Given the description of an element on the screen output the (x, y) to click on. 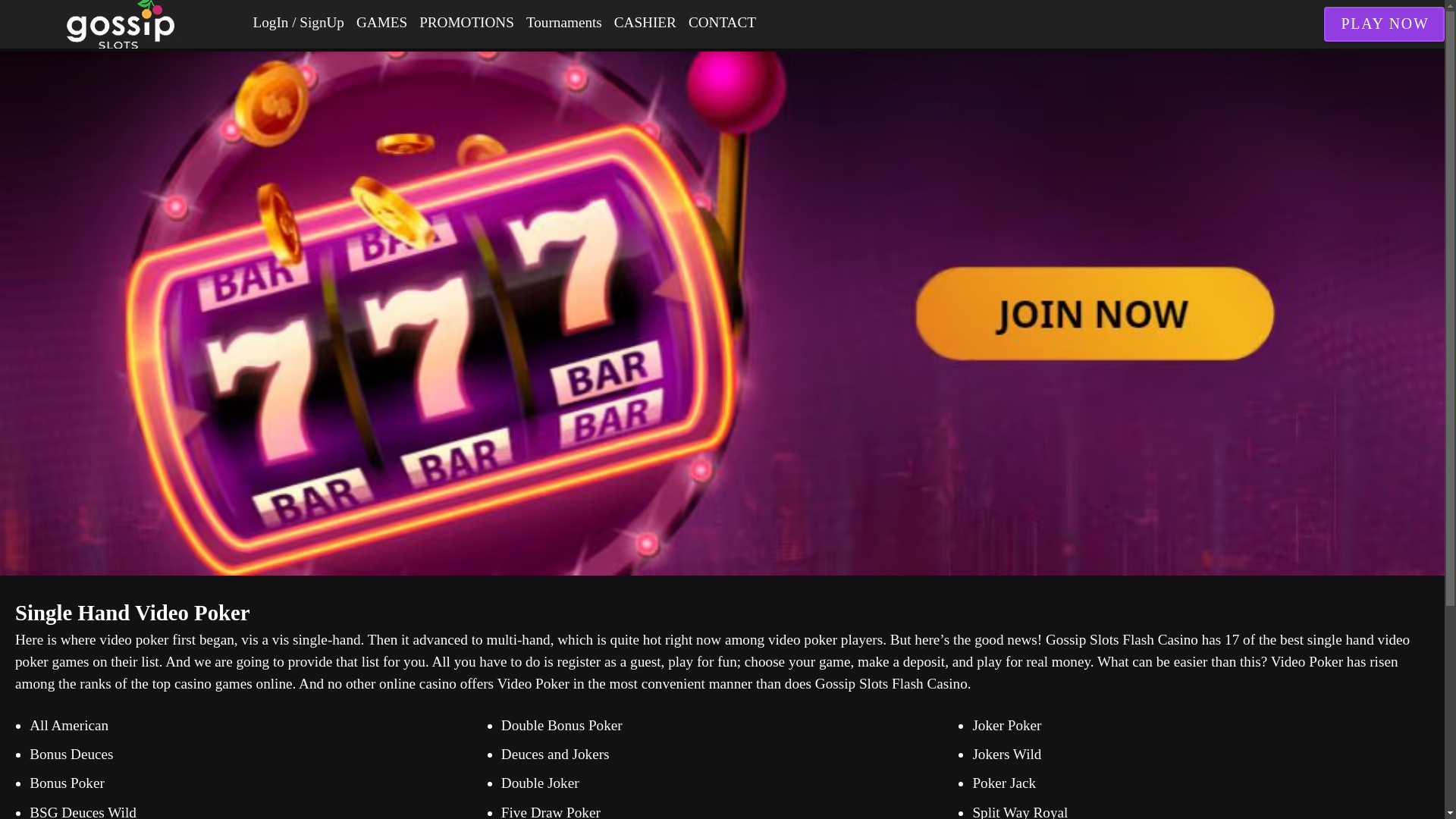
GAMES (381, 22)
Tournaments (563, 22)
CASHIER (645, 22)
CONTACT (721, 22)
PROMOTIONS (466, 22)
